Given the description of an element on the screen output the (x, y) to click on. 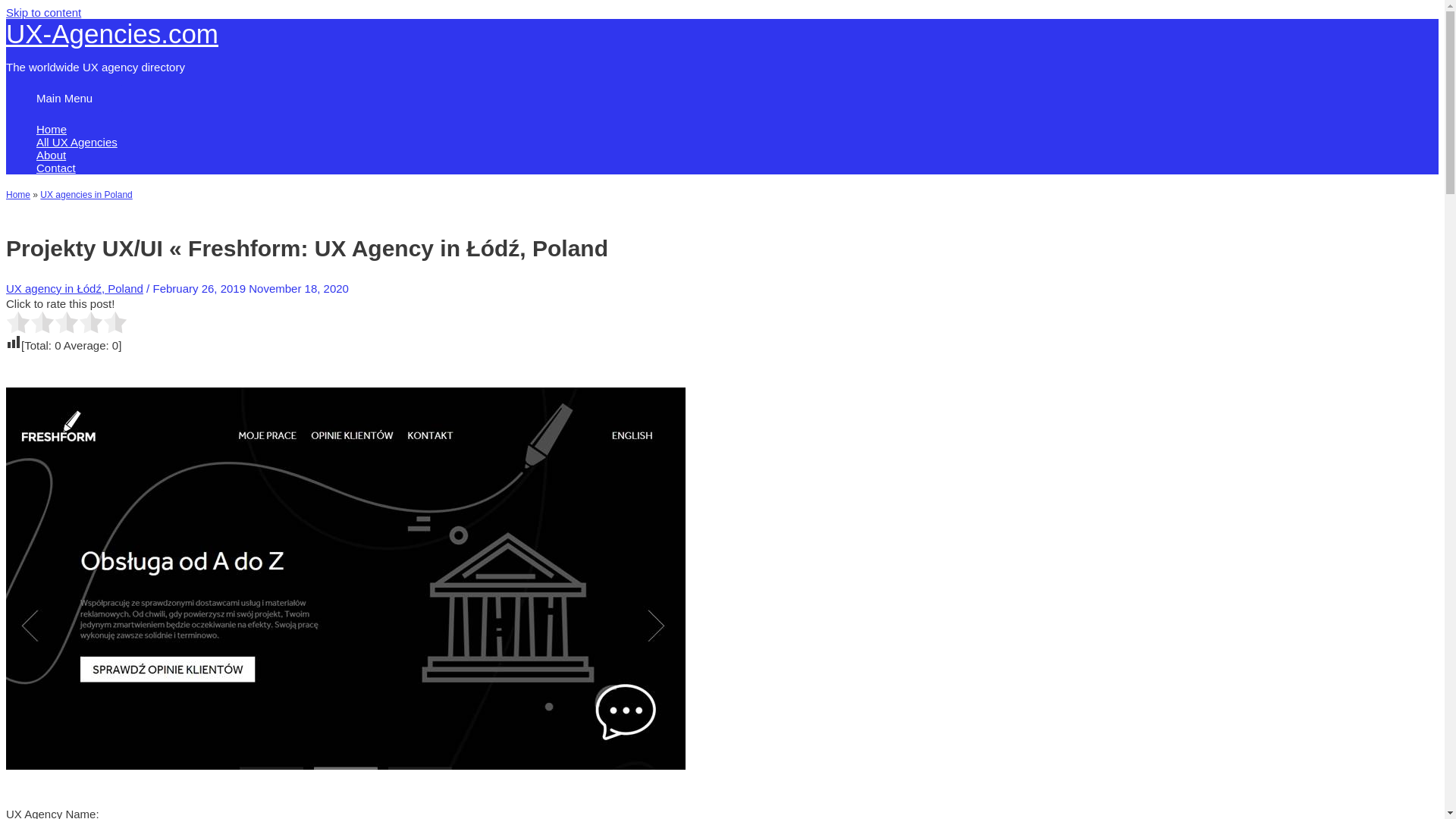
Contact (491, 167)
About (491, 154)
UX agencies in Poland (86, 194)
UX-Agencies.com (111, 33)
Skip to content (43, 11)
Home (17, 194)
All UX Agencies (491, 141)
Home (491, 128)
Main Menu (63, 98)
